Given the description of an element on the screen output the (x, y) to click on. 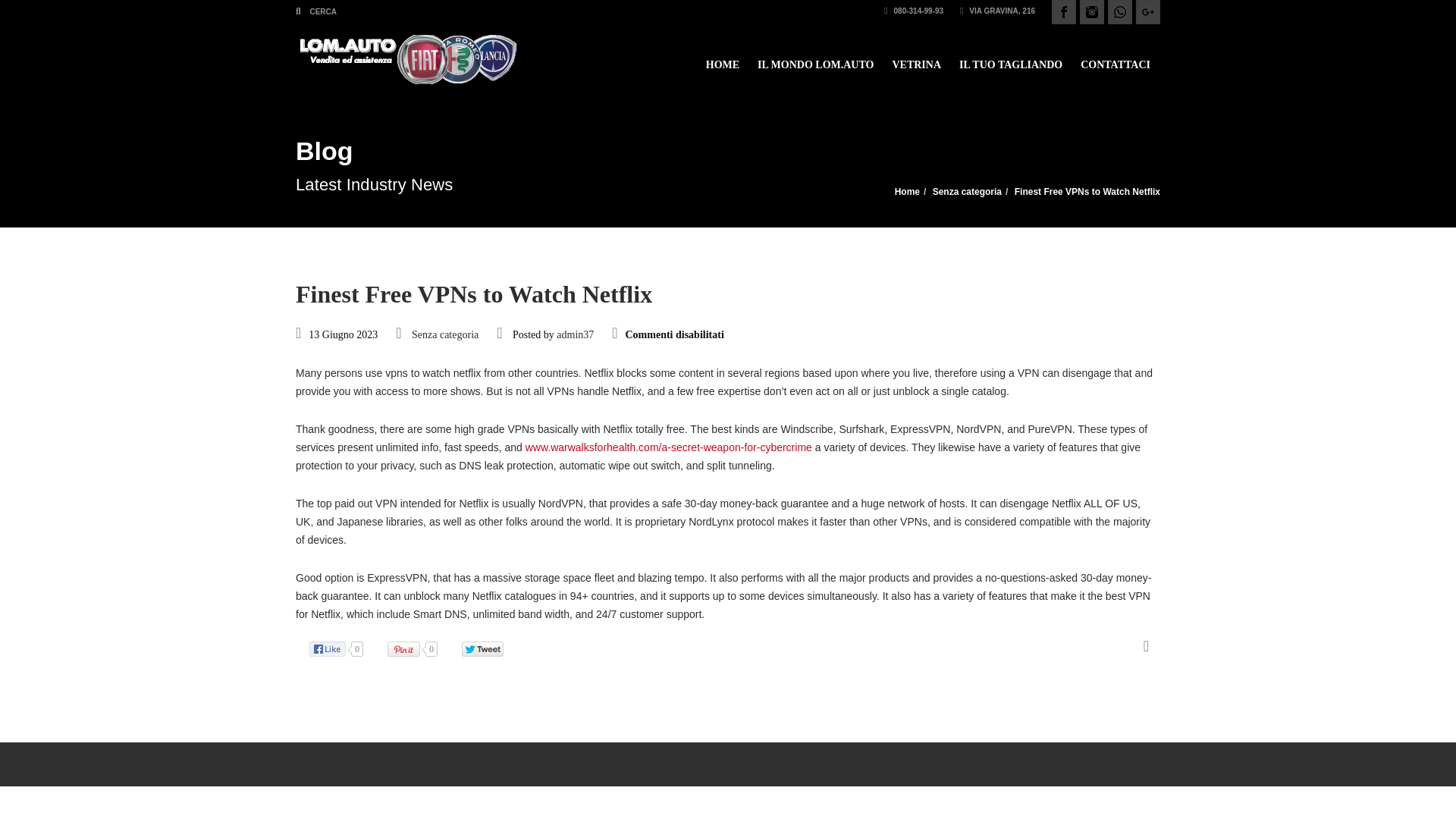
IL MONDO LOM.AUTO (815, 57)
Share image on Pinterest (419, 648)
Senza categoria (967, 191)
Senza categoria (445, 334)
CONTATTACI (1114, 57)
Articoli scritti da admin37 (575, 334)
Home (907, 191)
Share link on Facebook (343, 648)
VIA GRAVINA, 216 (997, 10)
Share link on Twitter (489, 648)
admin37 (575, 334)
VETRINA (916, 57)
IL TUO TAGLIANDO (1010, 57)
Finest Free VPNs to Watch Netflix (1087, 191)
080-314-99-93 (913, 10)
